Given the description of an element on the screen output the (x, y) to click on. 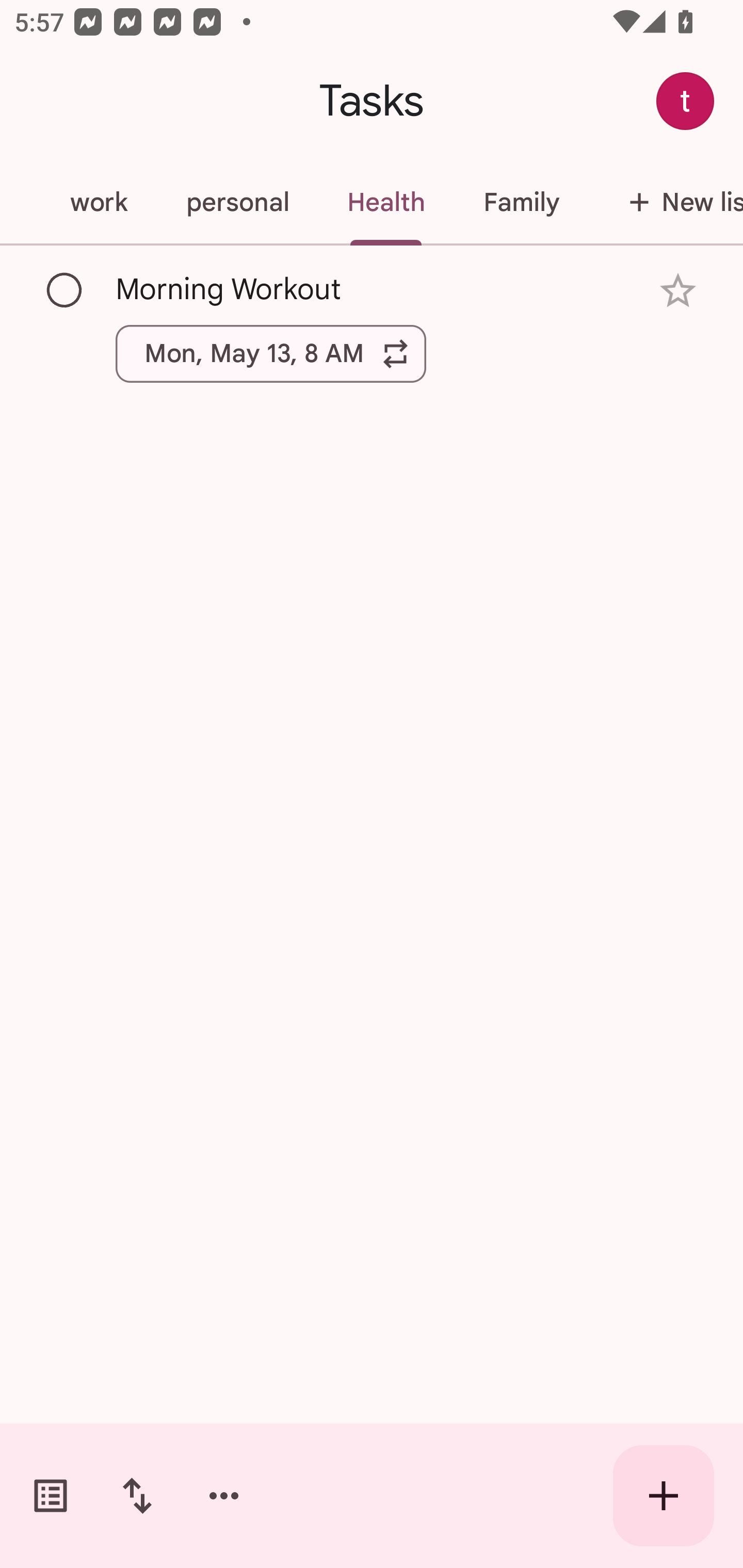
work (98, 202)
personal (237, 202)
Family (520, 202)
New list (665, 202)
Add star (677, 290)
Mark as complete (64, 290)
Mon, May 13, 8 AM (270, 353)
Switch task lists (50, 1495)
Create new task (663, 1495)
Change sort order (136, 1495)
More options (223, 1495)
